Given the description of an element on the screen output the (x, y) to click on. 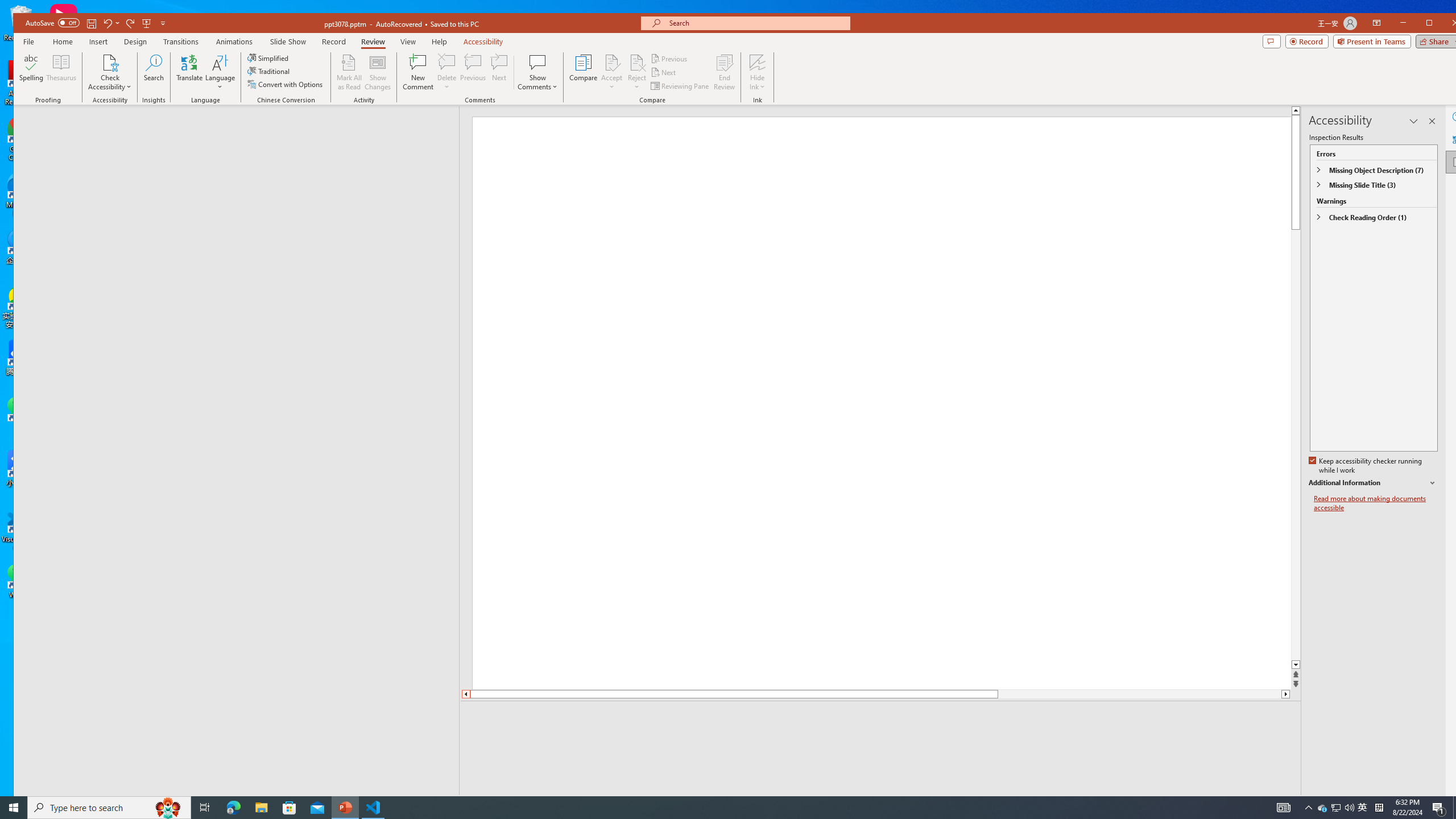
Show Changes (378, 72)
Keep accessibility checker running while I work (1365, 465)
Slide Show Previous On (1217, 802)
New Comment (418, 72)
Reject (636, 72)
Translate (188, 72)
Mark All as Read (349, 72)
Hide Ink (757, 61)
